Given the description of an element on the screen output the (x, y) to click on. 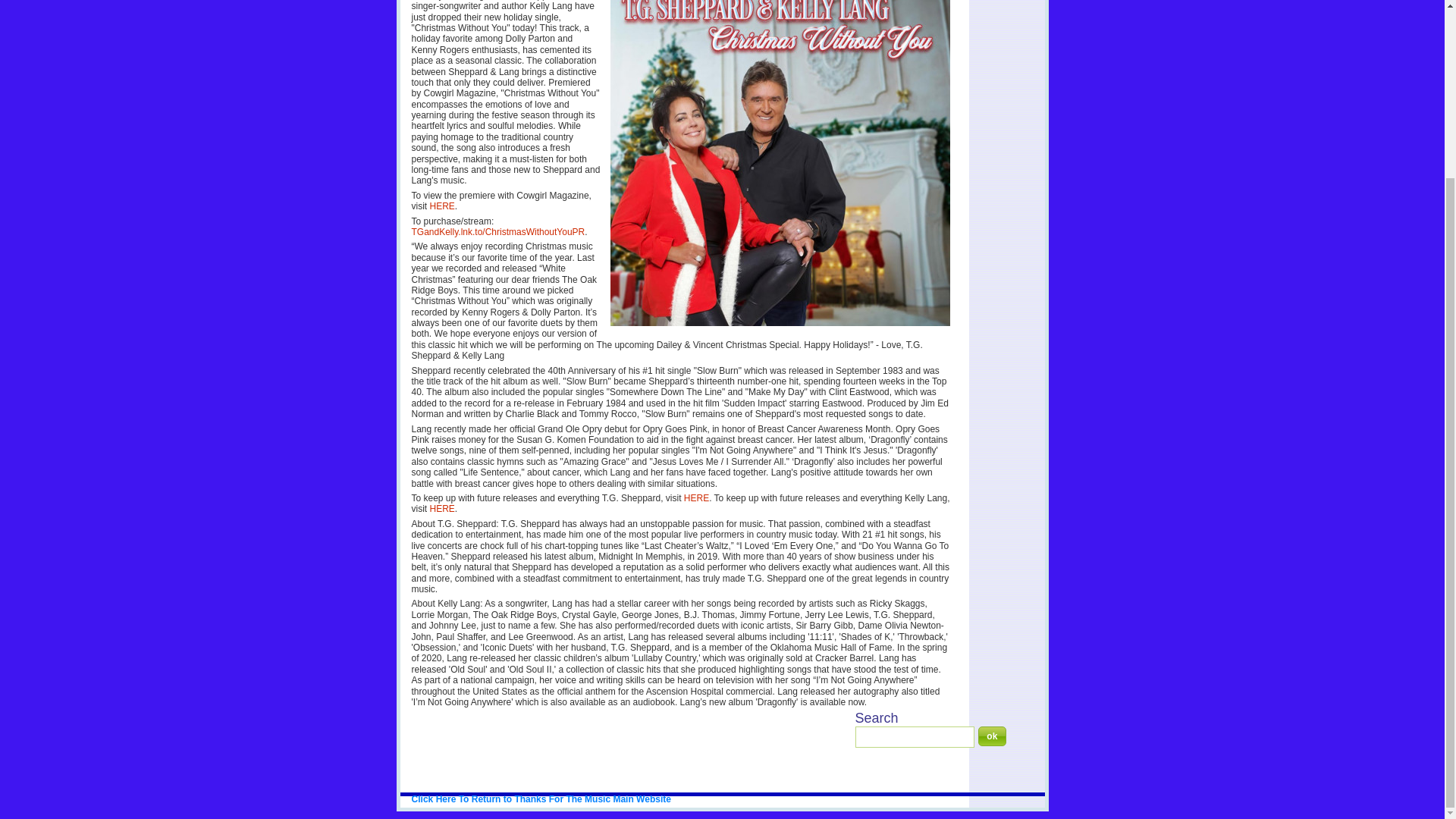
HERE (441, 508)
ok (992, 736)
Search (992, 736)
ok (992, 736)
Click Here To Return to Thanks For The Music Main Website (541, 798)
HERE (696, 498)
HERE (441, 205)
